Given the description of an element on the screen output the (x, y) to click on. 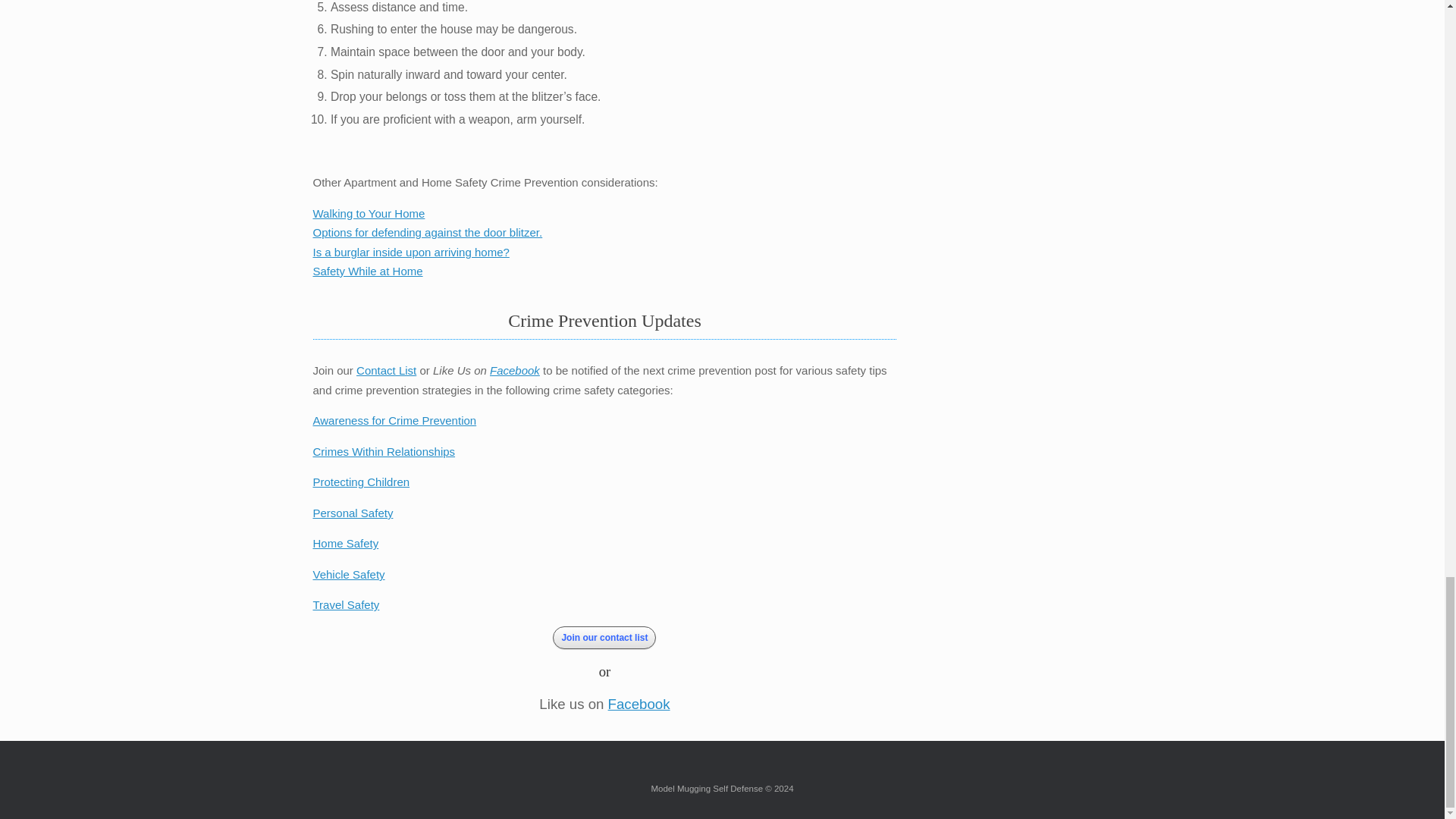
Crime Within Relationships (383, 451)
Travel Safety (345, 604)
Home Safety (345, 543)
Protecting Children (361, 481)
Personal Safety (353, 512)
Defending Against the Door Blitzer (427, 232)
Contact Us (386, 369)
Face Book - Model Mugging (514, 369)
Vehicle Safety (348, 574)
Awareness (394, 420)
